Given the description of an element on the screen output the (x, y) to click on. 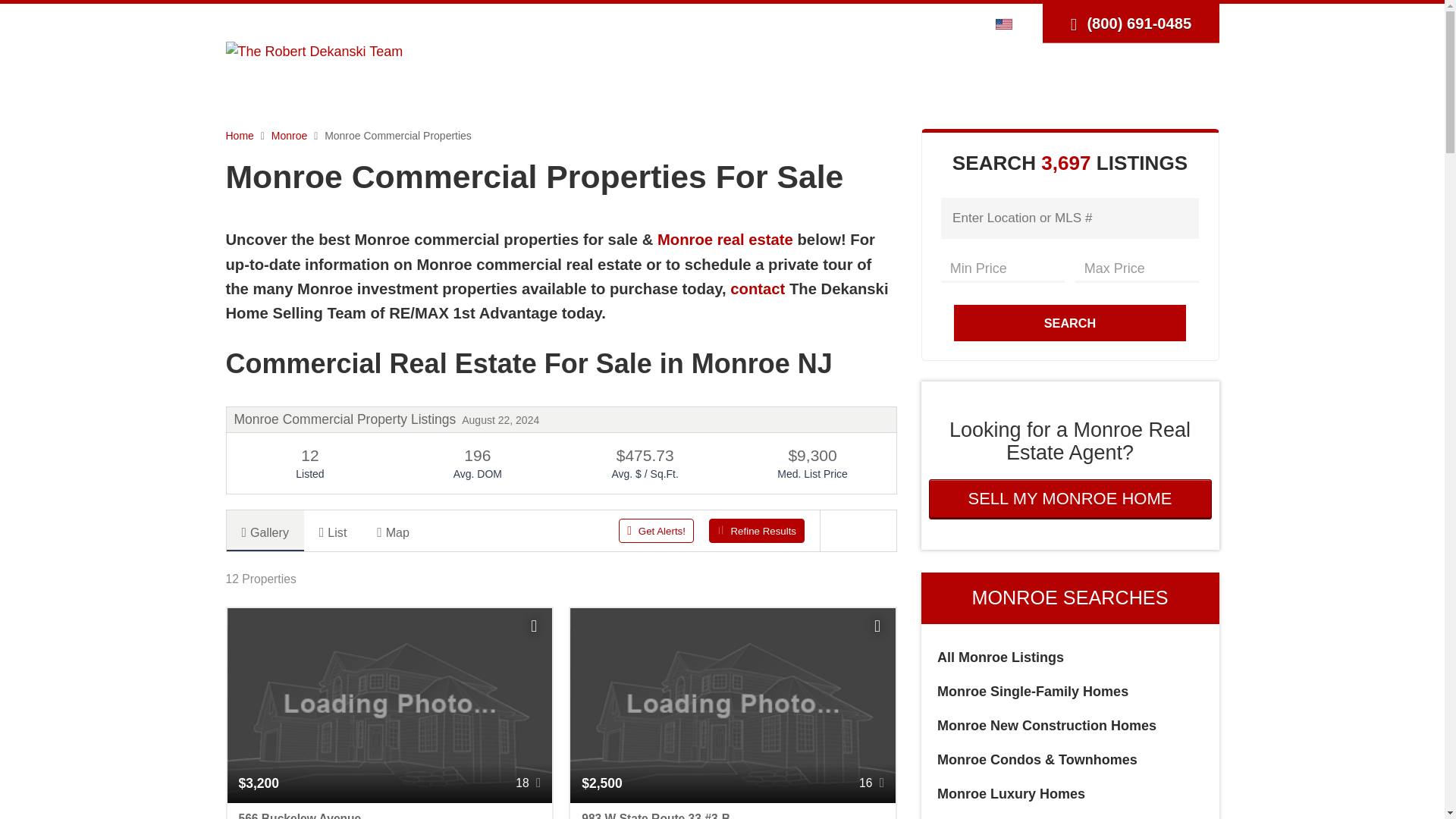
BUYERS (750, 77)
Home Page (314, 50)
566 Buckelew Avenue Monroe,  NJ 08831 (390, 811)
Select Language (1008, 23)
SELLERS (838, 77)
Login (872, 23)
Register (920, 23)
SEARCH (667, 77)
